Given the description of an element on the screen output the (x, y) to click on. 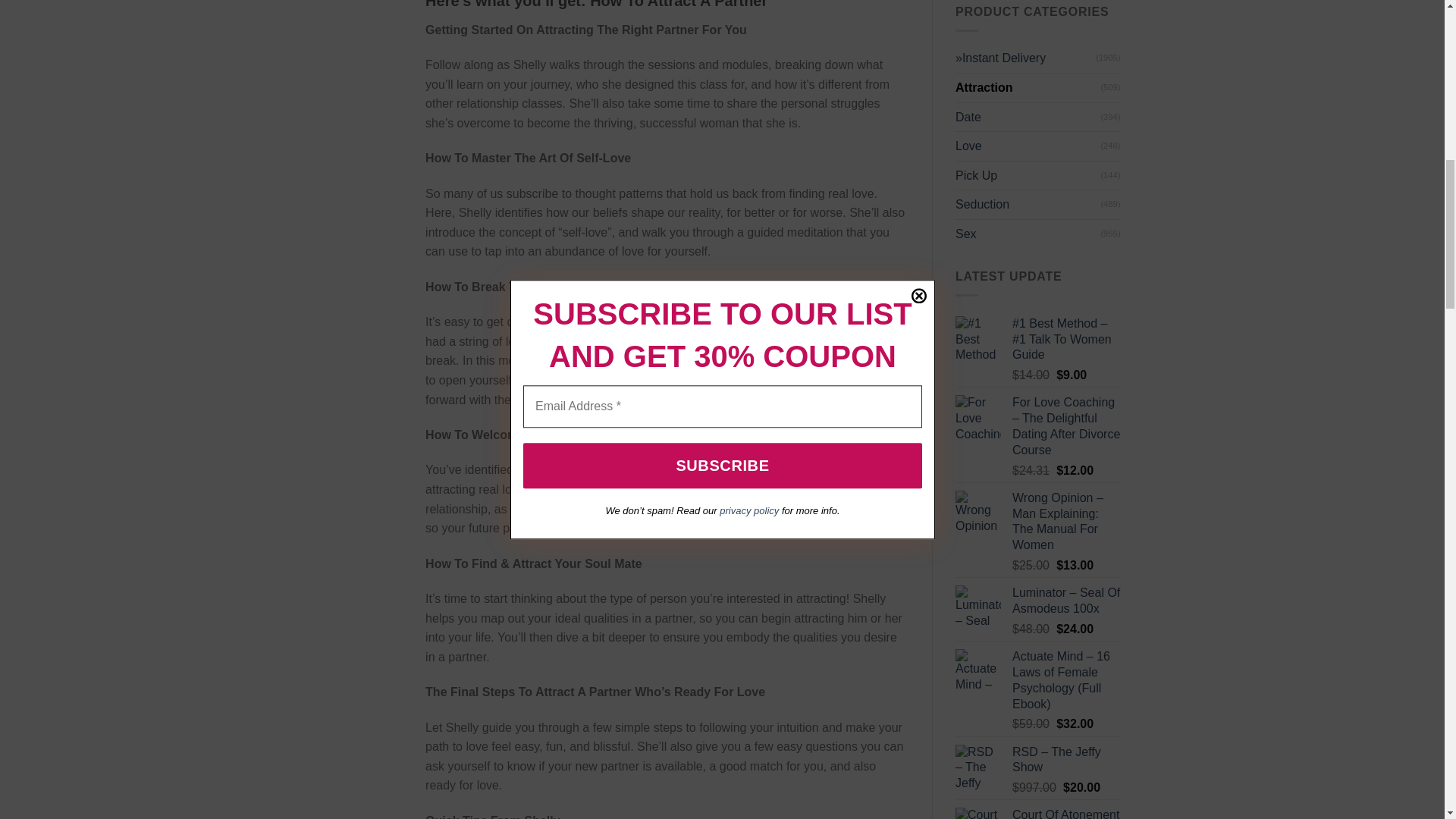
Pick Up (1027, 175)
Sex (1027, 234)
Seduction (1027, 204)
Love (1027, 145)
Date (1027, 117)
Attraction (1027, 87)
